Given the description of an element on the screen output the (x, y) to click on. 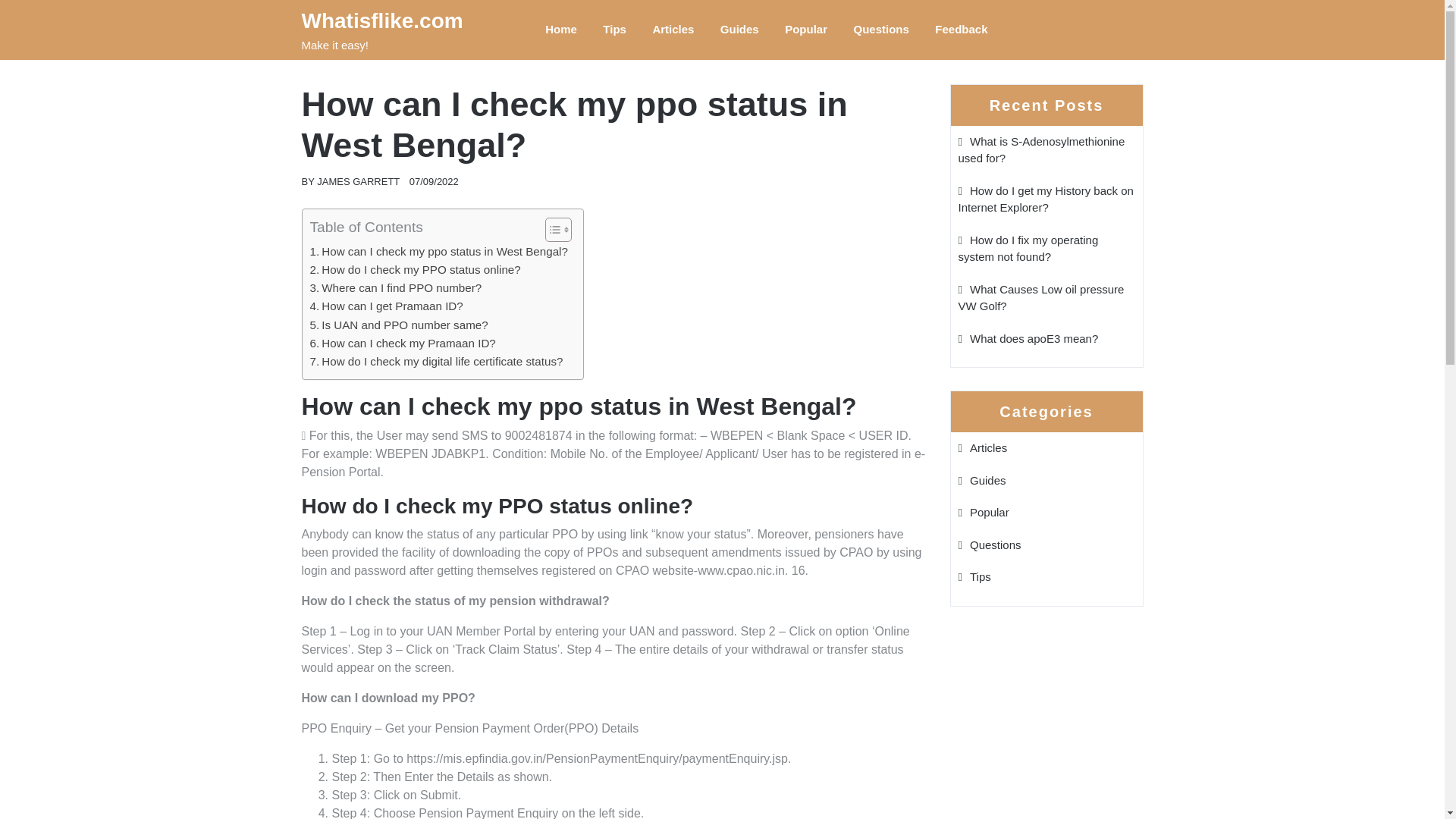
Articles (672, 29)
What is S-Adenosylmethionine used for? (1041, 150)
How do I fix my operating system not found? (1028, 248)
Whatisflike.com (382, 20)
Popular (983, 512)
Questions (990, 544)
Guides (982, 479)
Home (561, 29)
How do I check my PPO status online? (413, 270)
How can I get Pramaan ID? (385, 306)
Popular (805, 29)
Where can I find PPO number? (394, 288)
How can I get Pramaan ID? (385, 306)
What does apoE3 mean? (1028, 338)
Where can I find PPO number? (394, 288)
